Given the description of an element on the screen output the (x, y) to click on. 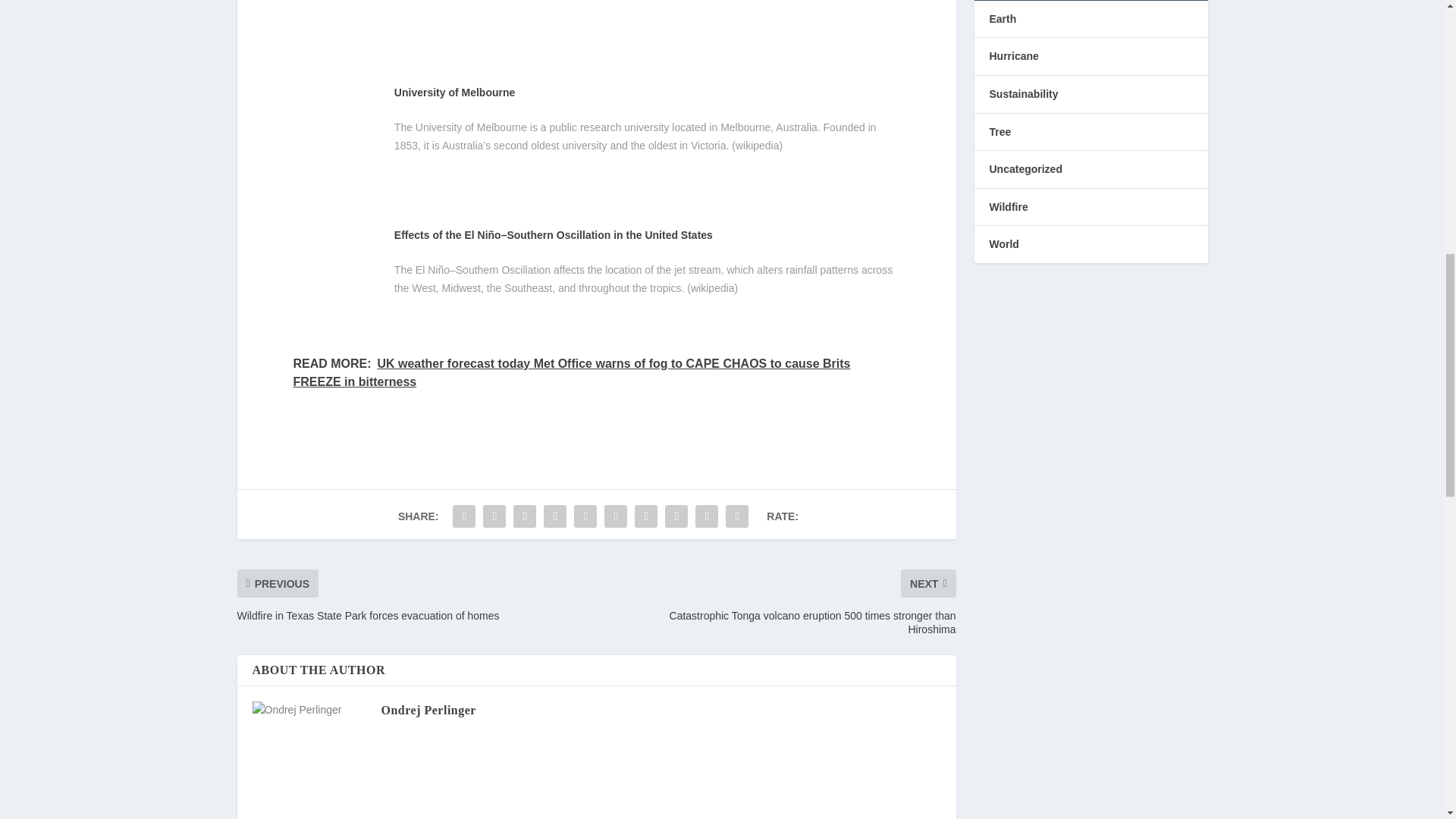
University of Melbourne (454, 92)
